Given the description of an element on the screen output the (x, y) to click on. 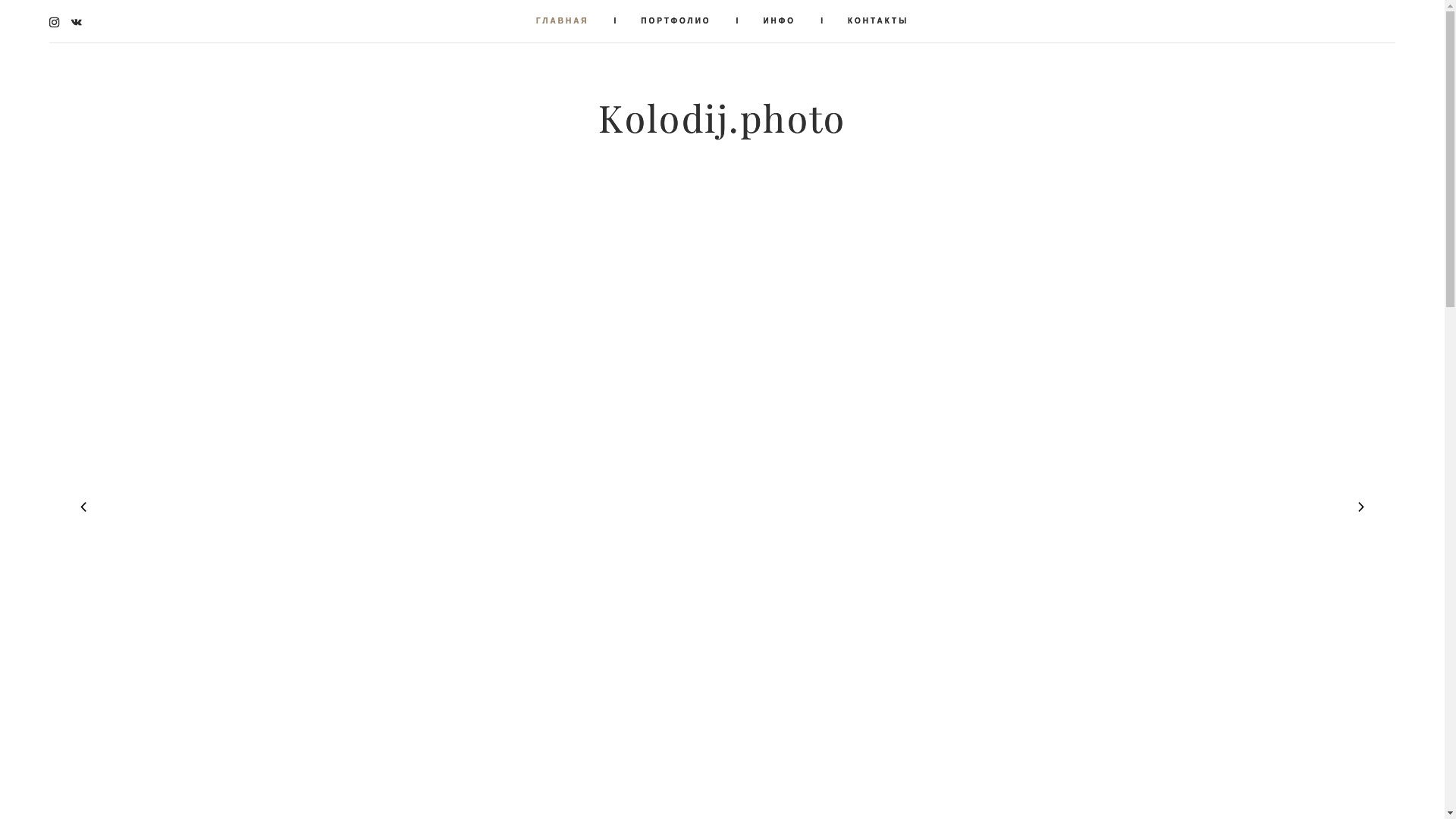
Kolodij.photo Element type: text (722, 119)
